Given the description of an element on the screen output the (x, y) to click on. 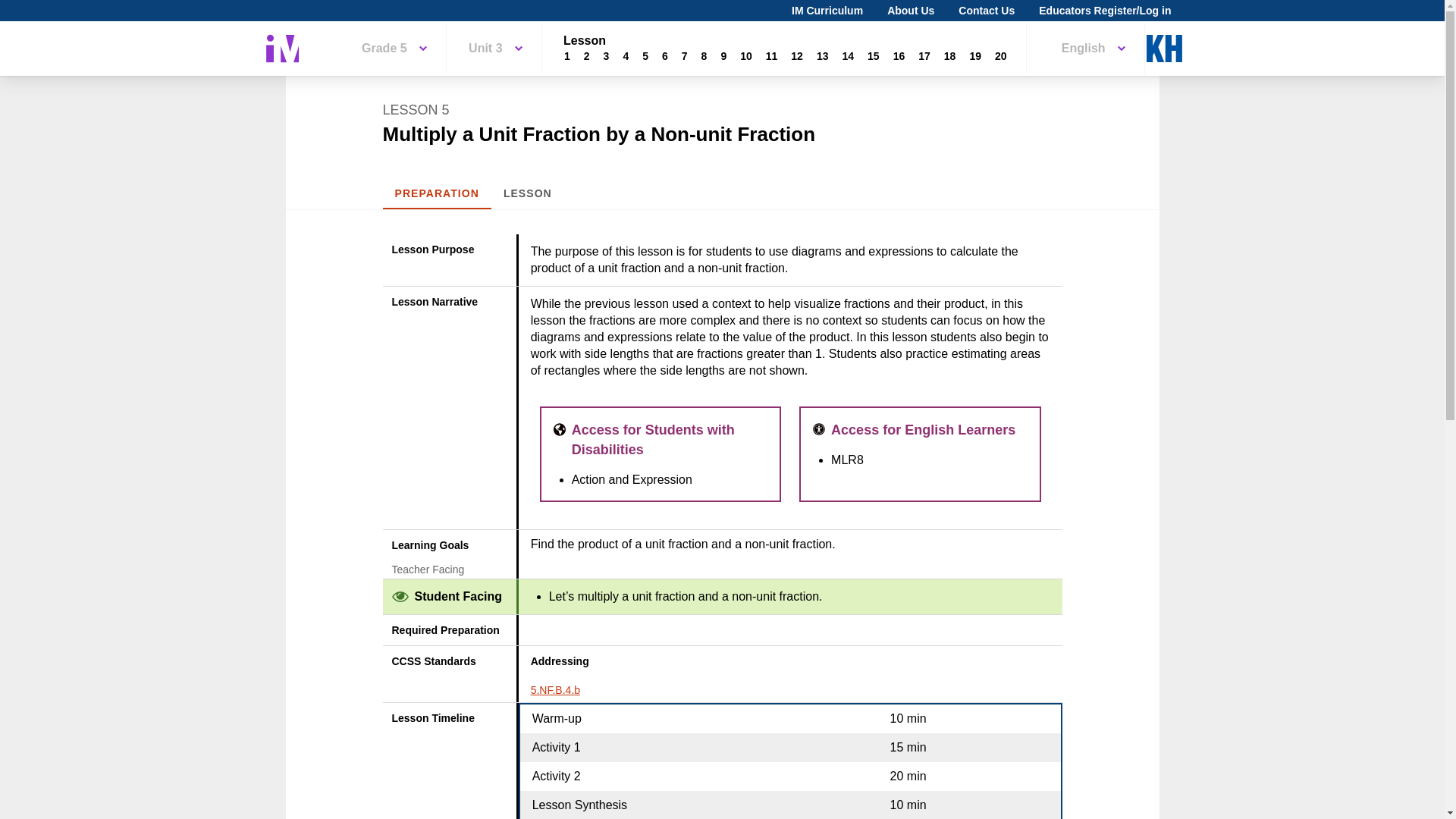
6 (665, 55)
About Us (910, 10)
IM Curriculum (826, 10)
English (1093, 48)
1 (566, 55)
13 (822, 55)
7 (684, 55)
11 (771, 55)
2 (586, 55)
Grade 5 (393, 48)
Unit 3 (494, 48)
3 (605, 55)
4 (624, 55)
10 (745, 55)
12 (796, 55)
